Given the description of an element on the screen output the (x, y) to click on. 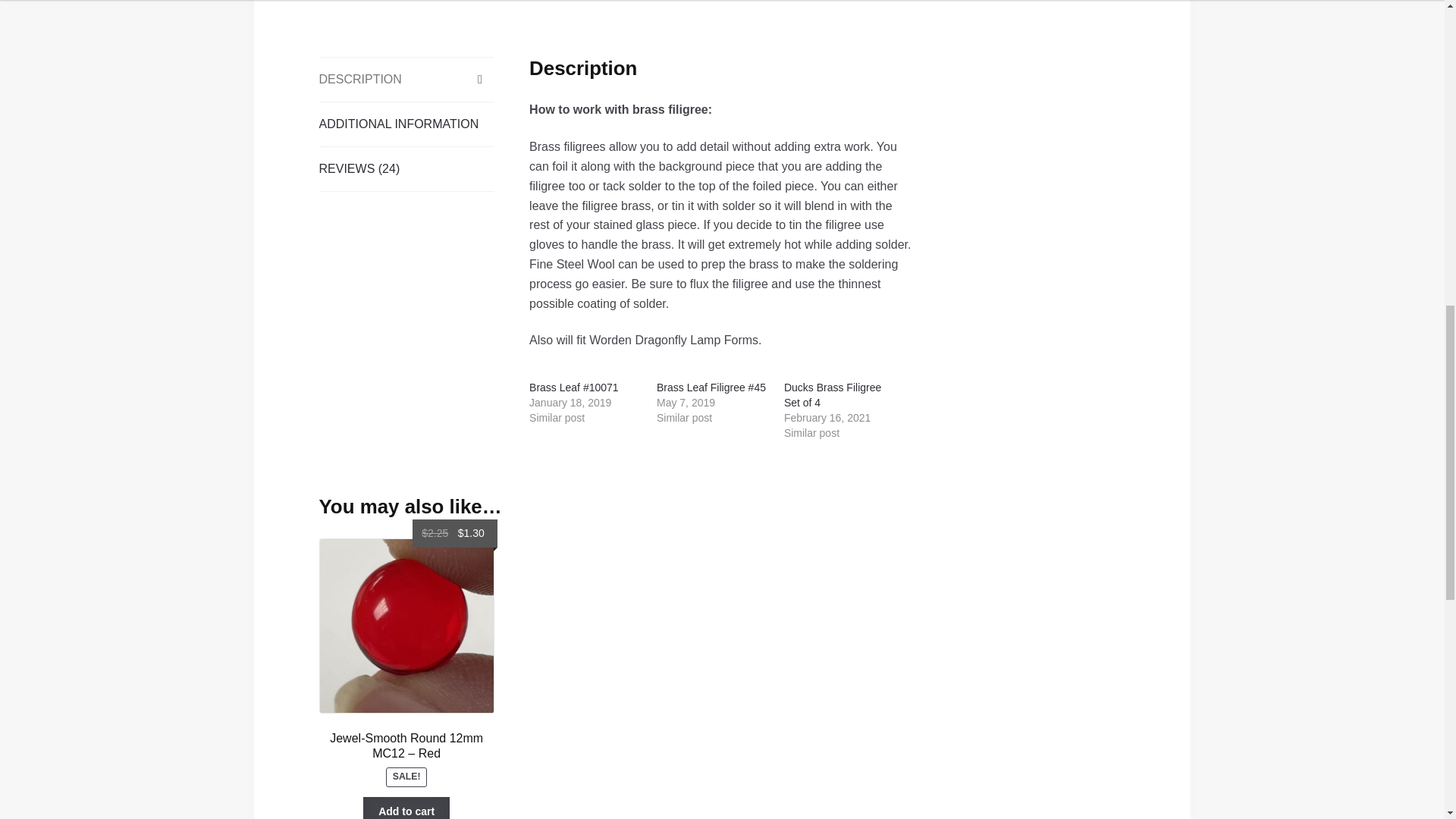
Ducks Brass Filigree Set of 4 (832, 394)
